Given the description of an element on the screen output the (x, y) to click on. 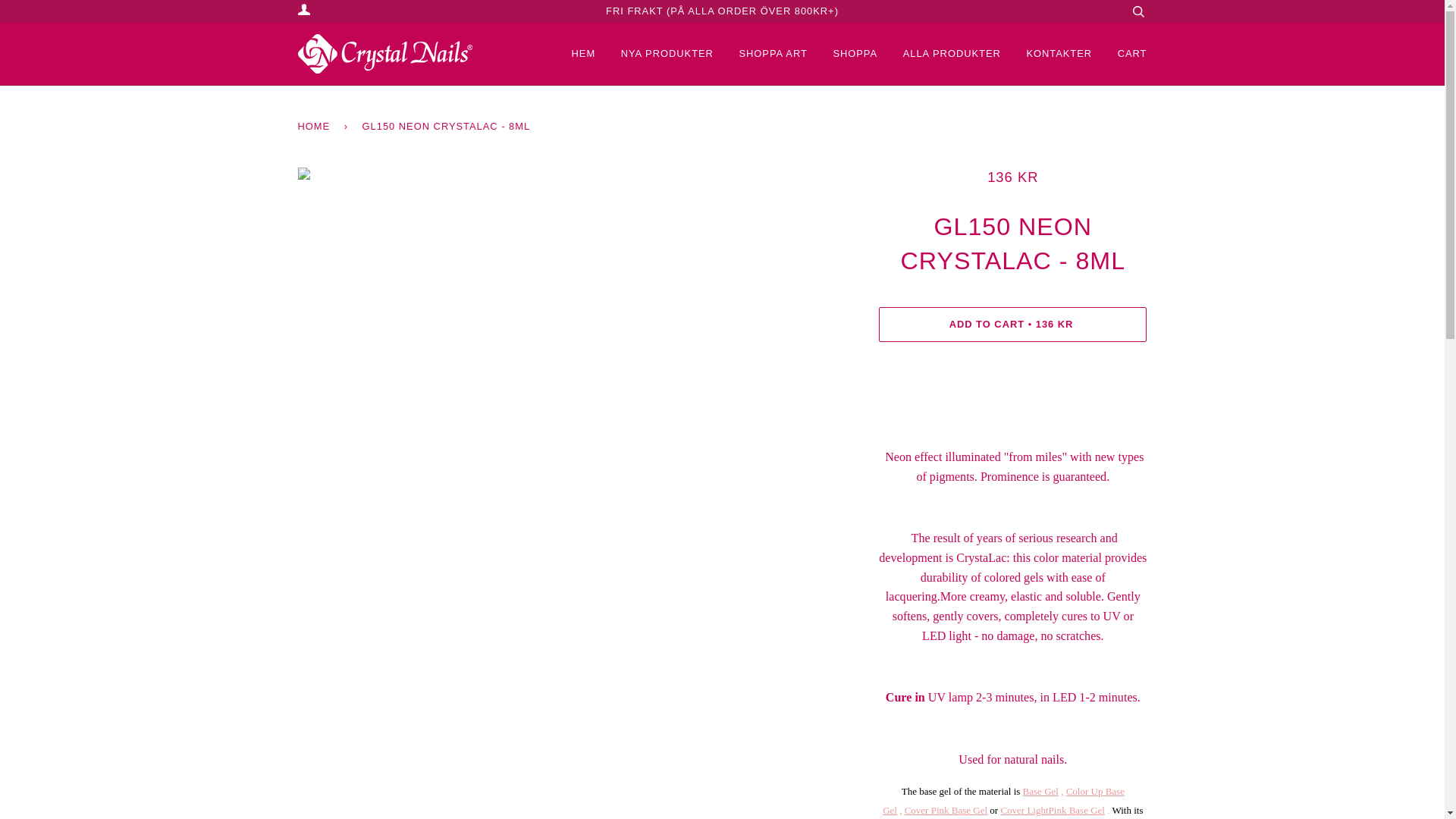
SHOPPA (843, 53)
Back to the frontpage (315, 126)
Search (1137, 11)
SHOPPA ART (761, 53)
NYA PRODUKTER (655, 53)
